Given the description of an element on the screen output the (x, y) to click on. 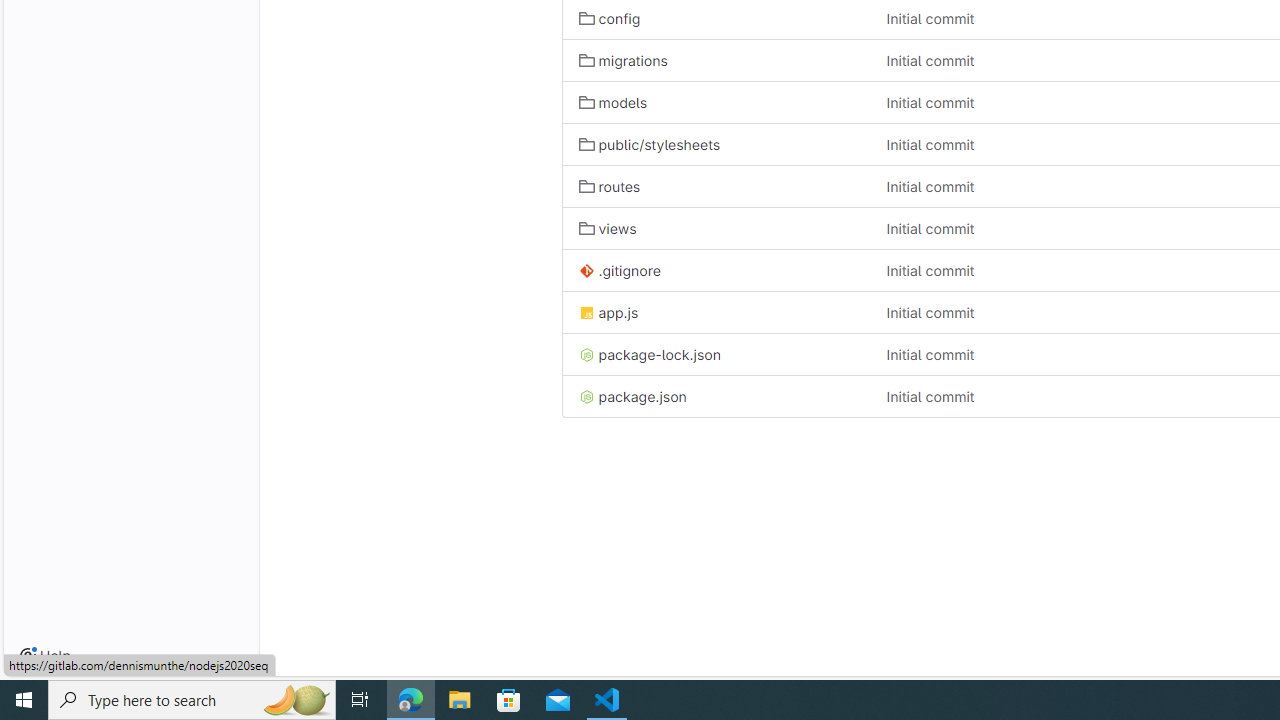
public/stylesheets (649, 144)
Initial commit (930, 396)
views (715, 228)
.gitignore (619, 270)
package-lock.json (715, 353)
Help (45, 655)
Initial commit (1024, 396)
Class: s16 position-relative file-icon (586, 397)
